Given the description of an element on the screen output the (x, y) to click on. 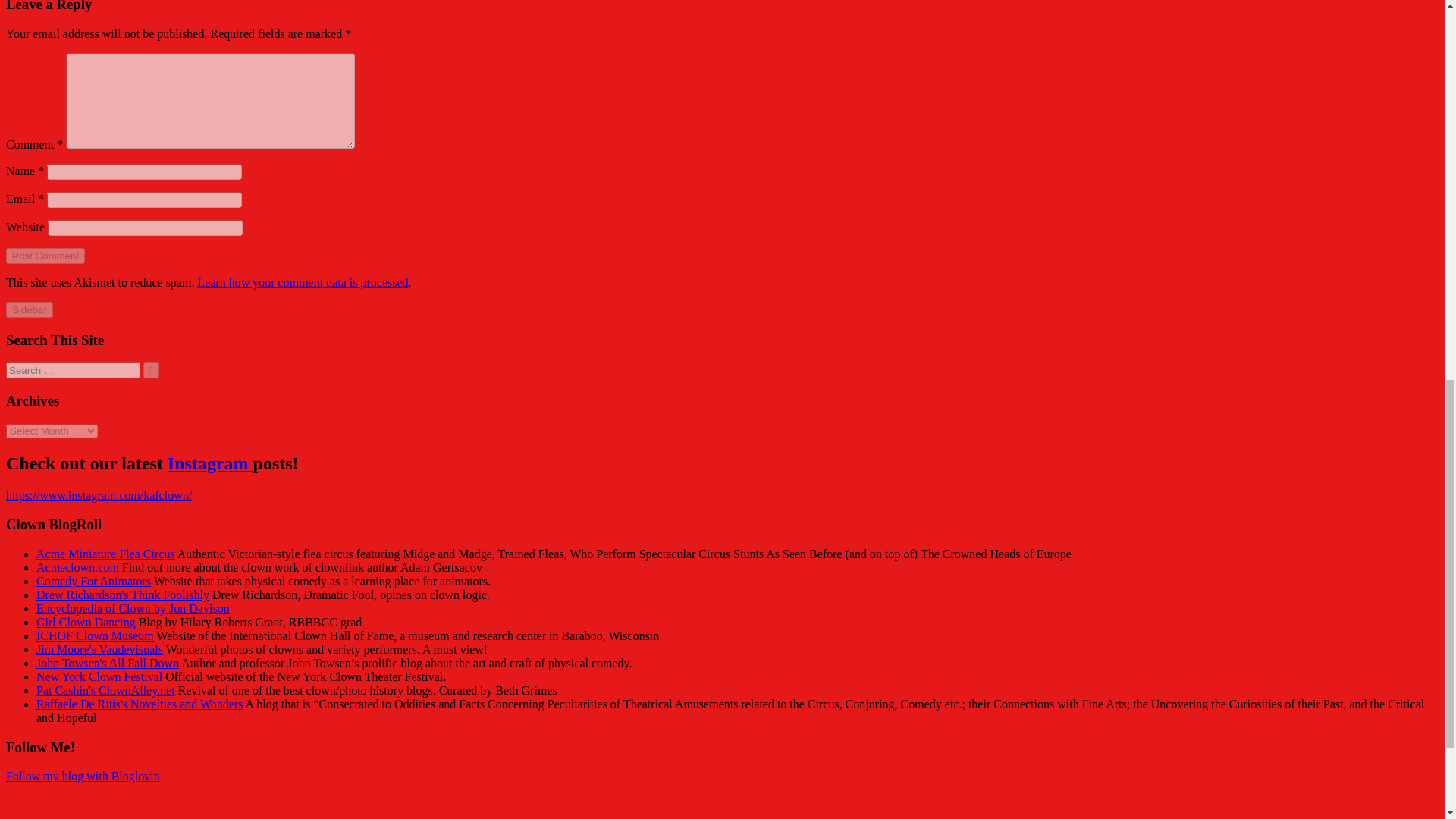
Learn how your comment data is processed (301, 282)
Comedy For Animators (93, 581)
Encyclopedia of Clown by Jon Davison (133, 608)
Drew Richardson, Dramatic Fool, opines on clown logic. (122, 594)
Pat Cashin's ClownAlley.net (105, 689)
Acme Miniature Flea Circus (105, 553)
Follow my blog with Bloglovin (82, 775)
Post Comment (44, 255)
Post Comment (44, 255)
Drew Richardson's Think Foolishly (122, 594)
Official website of the New York Clown Theater Festival. (98, 676)
Girl Clown Dancing (85, 621)
Blog by Hilary Roberts Grant, RBBBCC grad (85, 621)
